Given the description of an element on the screen output the (x, y) to click on. 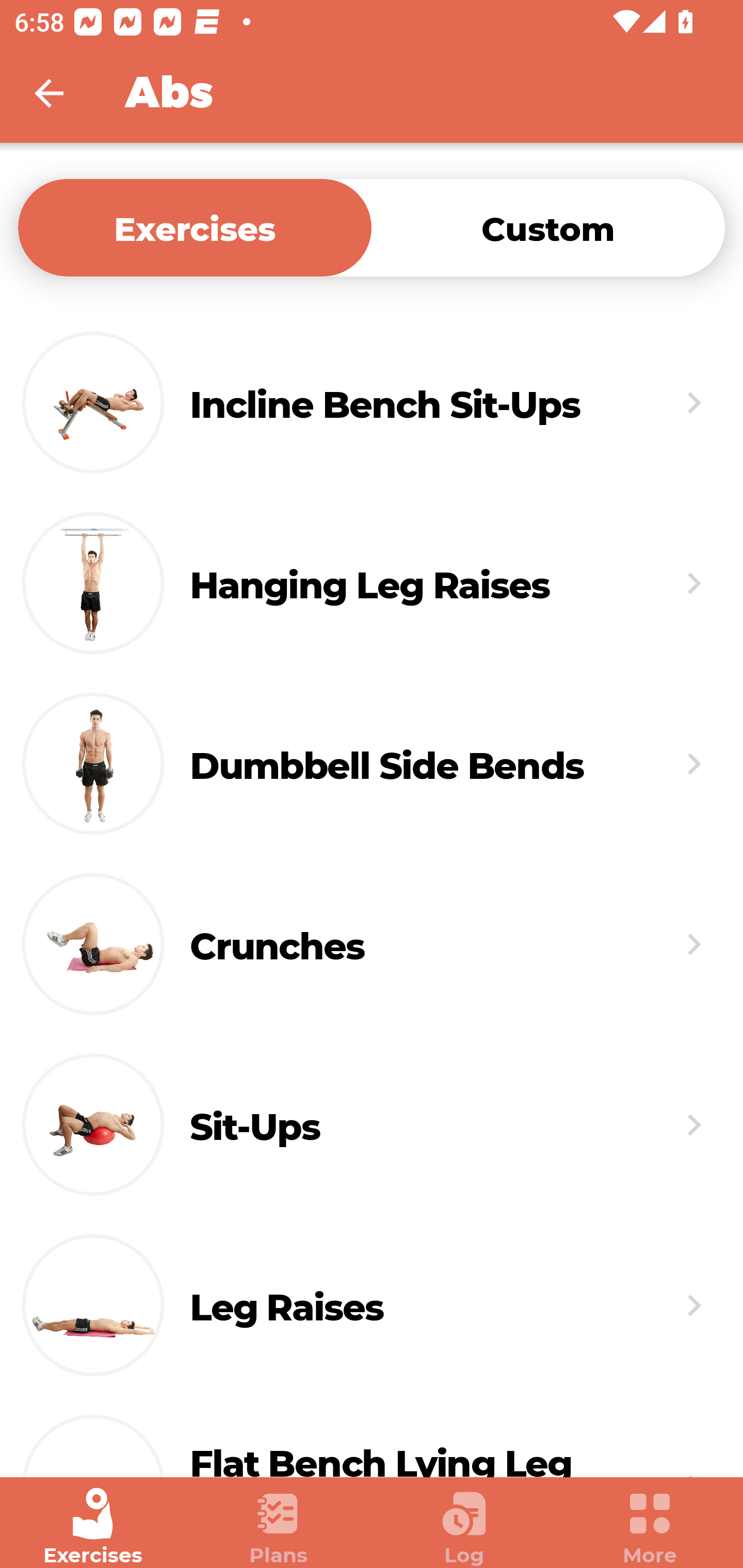
Back (62, 92)
Exercises (194, 226)
Custom (548, 226)
Exercises (92, 1527)
Plans (278, 1527)
Log (464, 1527)
More (650, 1527)
